Given the description of an element on the screen output the (x, y) to click on. 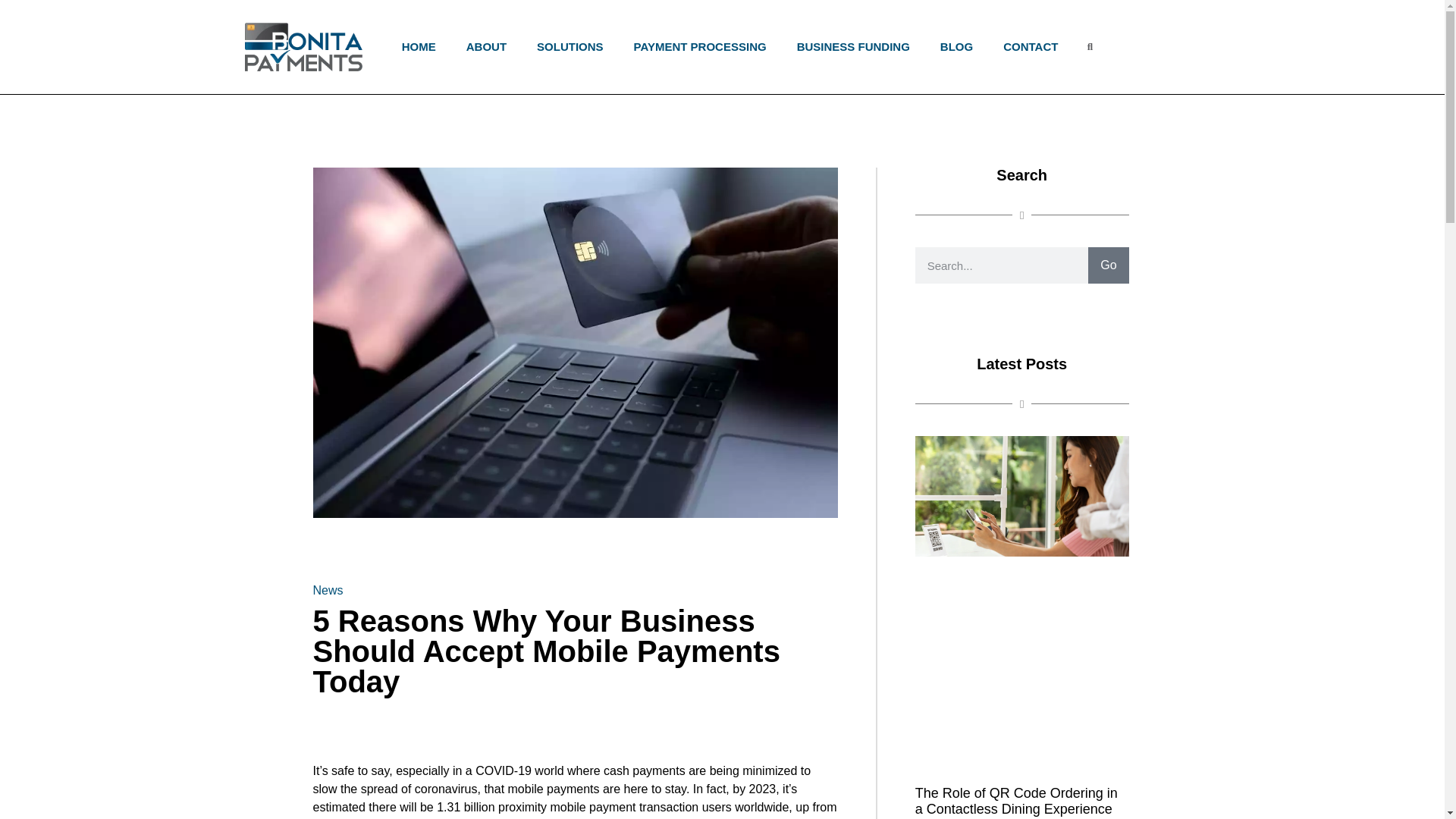
News (327, 590)
Go (1022, 283)
SOLUTIONS (570, 46)
ABOUT (486, 46)
PAYMENT PROCESSING (699, 46)
HOME (419, 46)
BUSINESS FUNDING (853, 46)
Go (1107, 265)
